Given the description of an element on the screen output the (x, y) to click on. 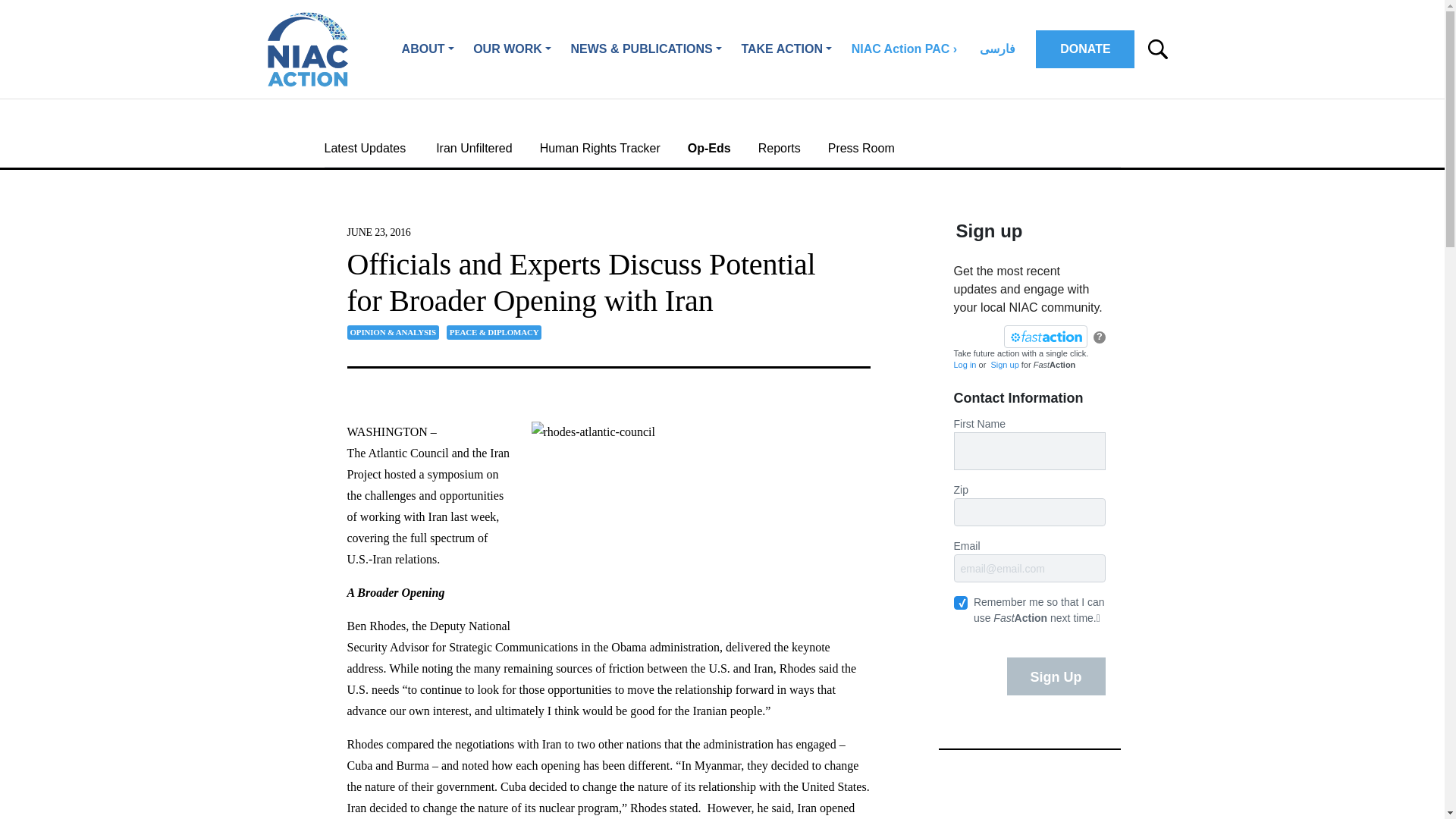
Sign Up (1056, 676)
OUR WORK (511, 49)
TAKE ACTION (786, 49)
ABOUT (427, 49)
